Given the description of an element on the screen output the (x, y) to click on. 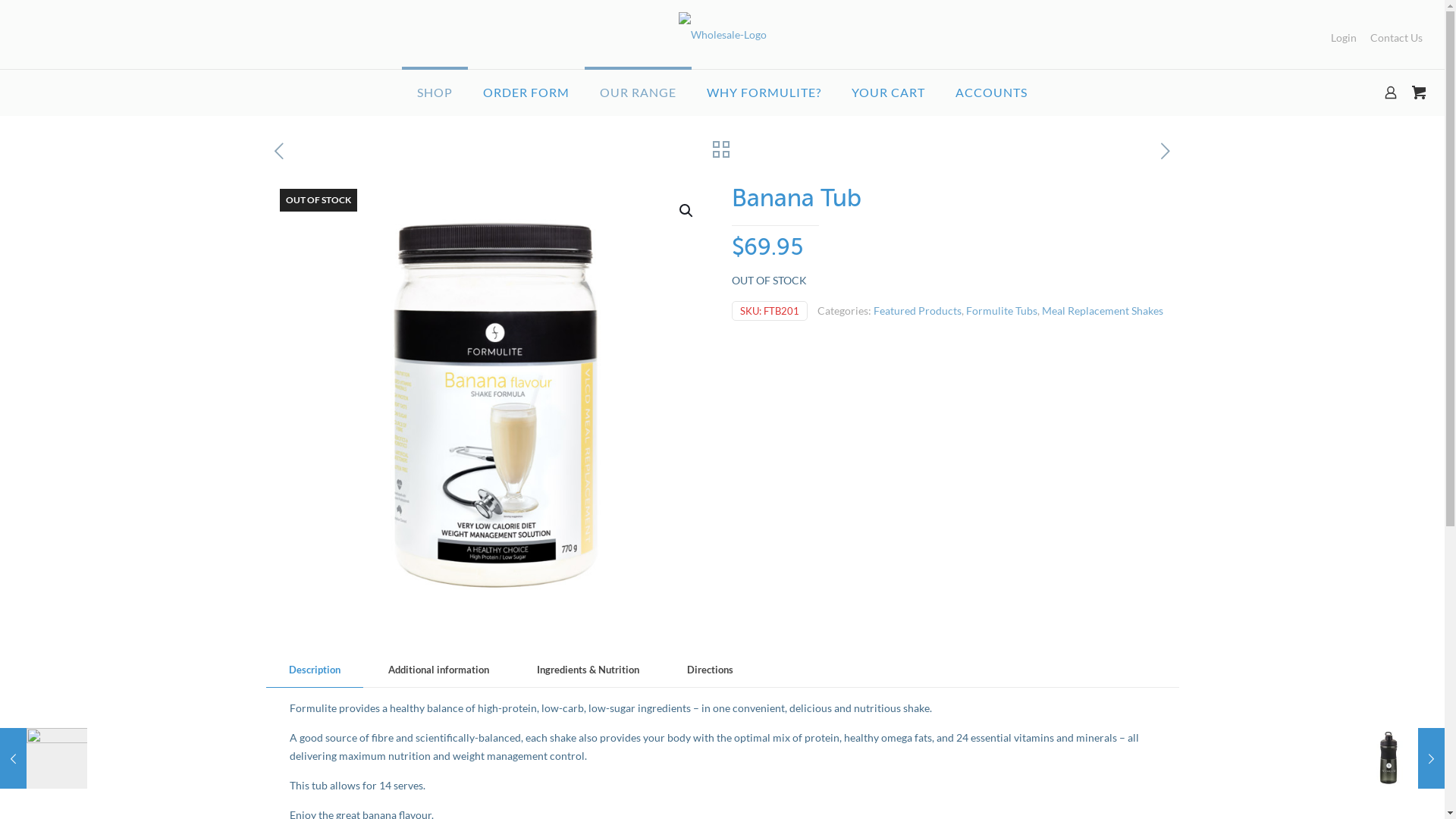
Formulite Wholesale Orders Element type: hover (721, 34)
Featured Products Element type: text (917, 310)
WHY FORMULITE? Element type: text (763, 92)
OUR RANGE Element type: text (637, 92)
DLL Photography & Design Element type: text (936, 763)
Our Story Element type: text (297, 571)
FAQs Element type: text (287, 632)
Contact Element type: text (749, 632)
Terms Of Use Element type: text (534, 632)
SHOP Element type: text (434, 92)
Shipping Policy Element type: text (767, 571)
ACCOUNTS Element type: text (991, 92)
Directions Element type: text (710, 669)
Contraindications Element type: text (545, 602)
ORDER FORM Element type: text (525, 92)
Description Element type: text (313, 669)
Formulite Tubs Element type: text (1001, 310)
Intolerances Element type: text (532, 571)
Meal Replacement Shakes Element type: text (1102, 310)
Login Element type: text (1343, 37)
Ingredients & Nutrition Element type: text (588, 669)
Privacy Policy Element type: text (764, 602)
Buy Formulite Element type: text (308, 602)
YOUR CART Element type: text (888, 92)
Additional information Element type: text (438, 669)
Contact Us Element type: text (1396, 37)
formulite-tub-banana Element type: hover (493, 403)
